Given the description of an element on the screen output the (x, y) to click on. 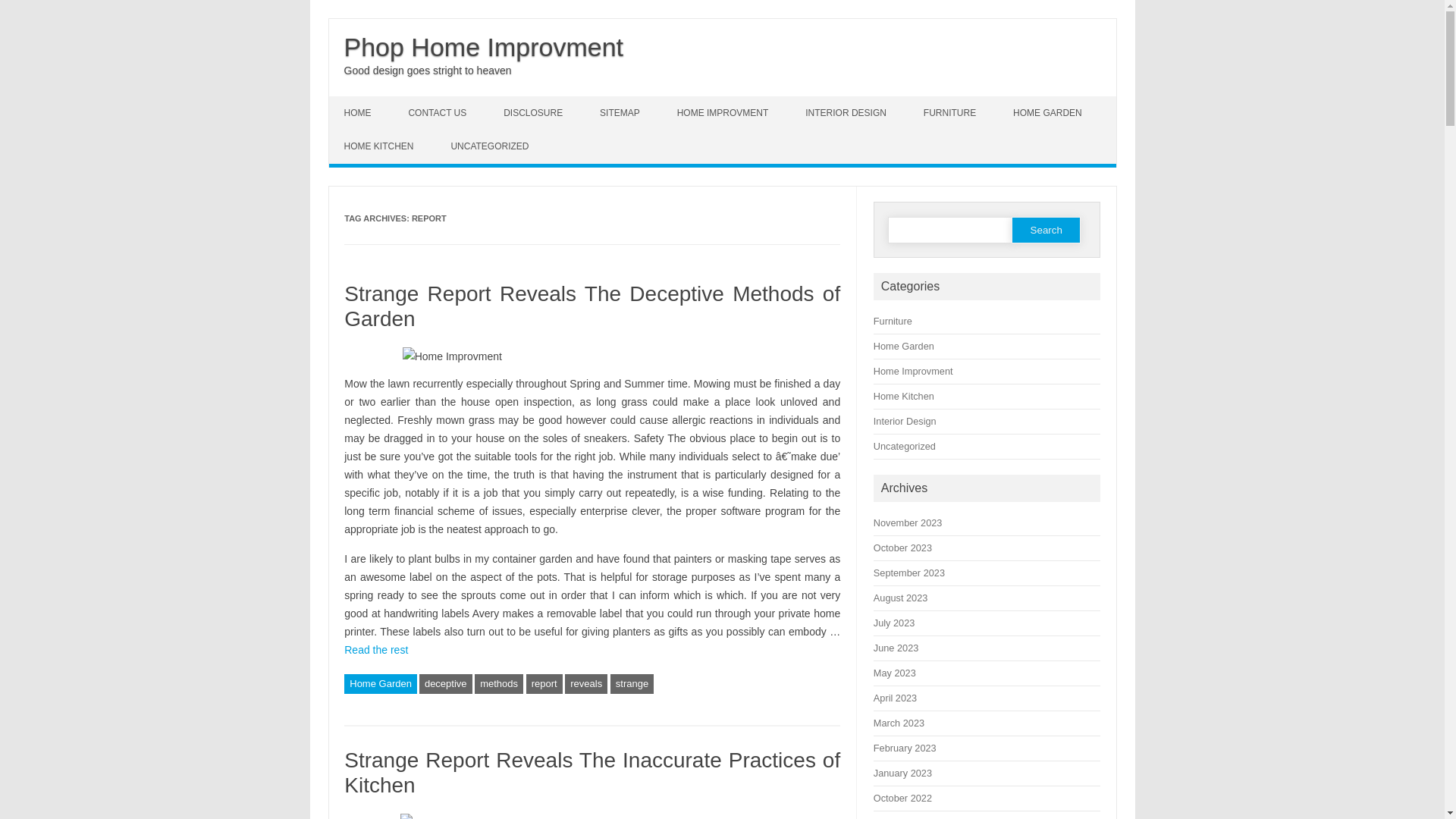
March 2023 Element type: text (898, 722)
July 2023 Element type: text (894, 622)
UNCATEGORIZED Element type: text (491, 146)
FURNITURE Element type: text (951, 112)
November 2023 Element type: text (907, 522)
Home Improvment Element type: text (913, 370)
Furniture Element type: text (892, 320)
CONTACT US Element type: text (438, 112)
Interior Design Element type: text (904, 420)
Home Kitchen Element type: text (903, 395)
strange Element type: text (631, 683)
HOME GARDEN Element type: text (1049, 112)
methods Element type: text (498, 683)
February 2023 Element type: text (904, 747)
Search Element type: text (1045, 229)
Strange Report Reveals The Deceptive Methods of Garden Element type: text (592, 306)
Read the rest Element type: text (375, 649)
reveals Element type: text (585, 683)
October 2022 Element type: text (902, 797)
September 2023 Element type: text (908, 572)
SITEMAP Element type: text (621, 112)
Home Garden Element type: text (903, 345)
October 2023 Element type: text (902, 547)
April 2023 Element type: text (894, 697)
June 2023 Element type: text (895, 647)
deceptive Element type: text (445, 683)
Skip to content Element type: text (364, 101)
Strange Report Reveals The Inaccurate Practices of Kitchen Element type: text (592, 772)
May 2023 Element type: text (894, 672)
HOME Element type: text (359, 112)
INTERIOR DESIGN Element type: text (847, 112)
Uncategorized Element type: text (904, 445)
Home Garden Element type: text (380, 683)
DISCLOSURE Element type: text (534, 112)
Good design goes stright to heaven Element type: text (427, 70)
HOME IMPROVMENT Element type: text (724, 112)
HOME KITCHEN Element type: text (381, 146)
report Element type: text (544, 683)
January 2023 Element type: text (902, 772)
Phop Home Improvment Element type: text (484, 46)
August 2023 Element type: text (900, 597)
